Given the description of an element on the screen output the (x, y) to click on. 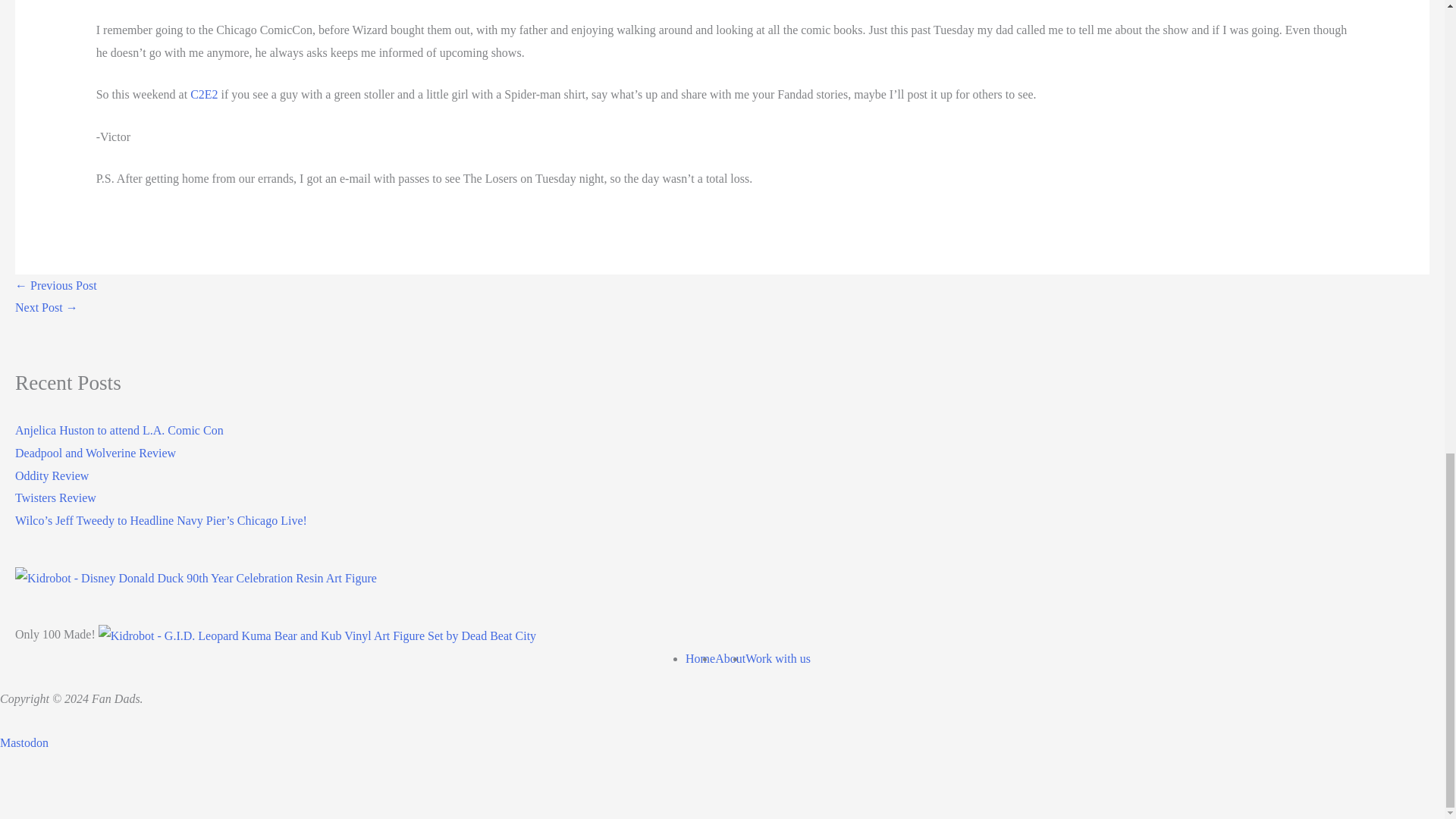
The New Perk to Being a Dad or The Extra Gift. (55, 285)
C2E2 10: Star Wars BDs in the Works - Blu-ray News at IGN (46, 307)
Anjelica Huston to attend L.A. Comic Con (119, 430)
C2E2 (203, 93)
Deadpool and Wolverine Review (95, 452)
